Given the description of an element on the screen output the (x, y) to click on. 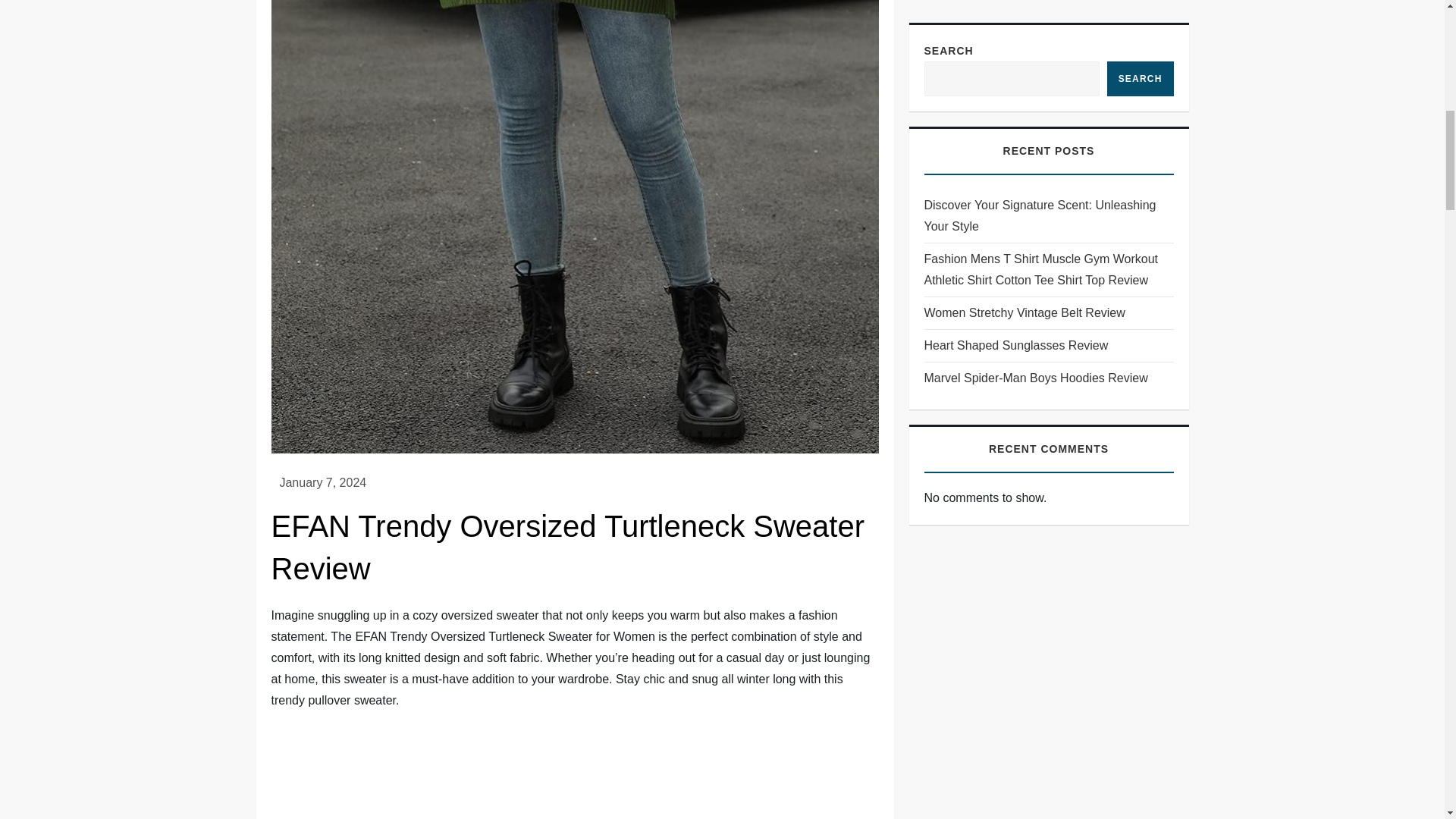
January 7, 2024 (322, 481)
